Given the description of an element on the screen output the (x, y) to click on. 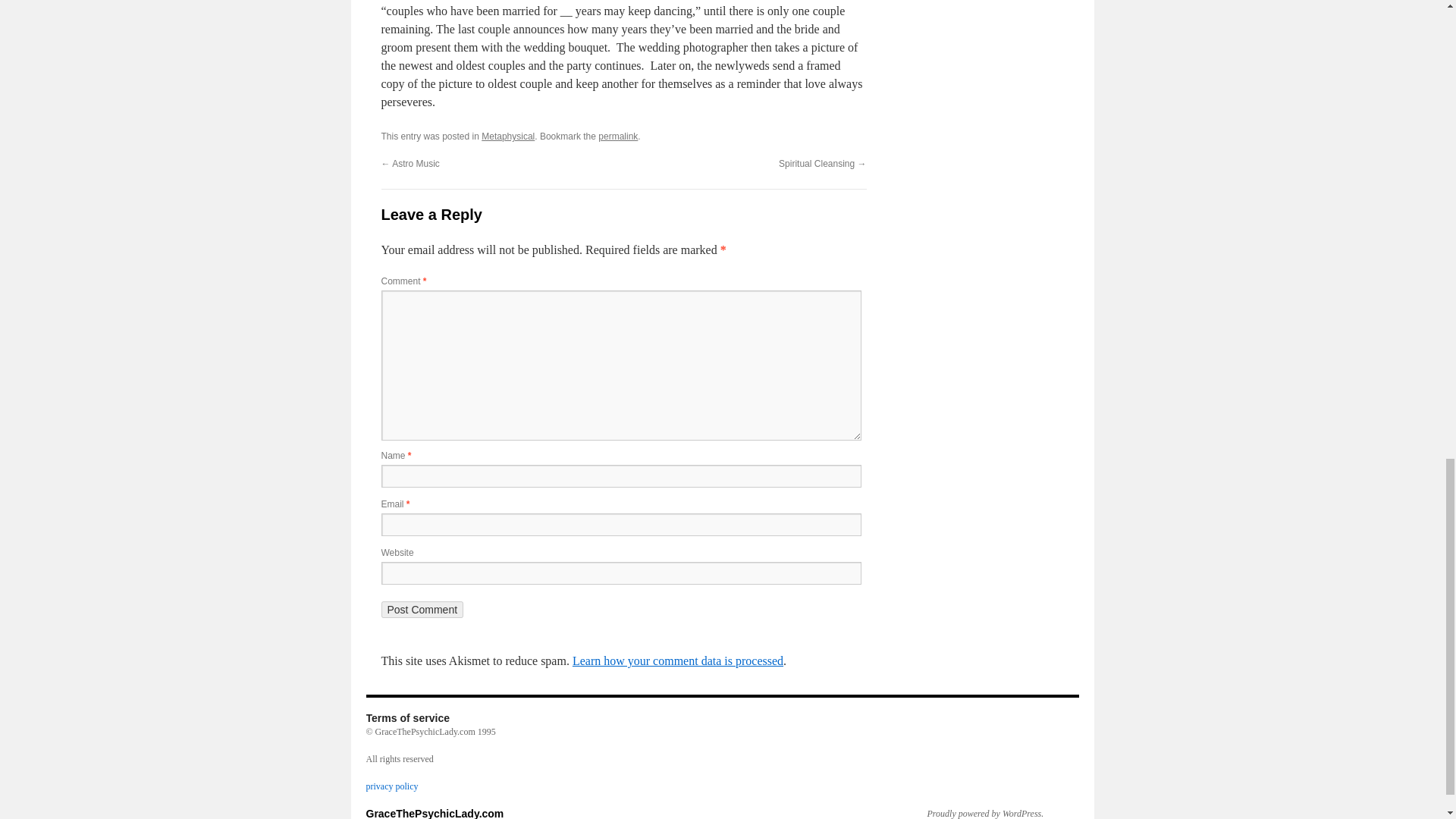
Permalink to Wedding Traditions and Superstitions (617, 136)
permalink (617, 136)
Metaphysical (507, 136)
Post Comment (421, 609)
Learn how your comment data is processed (677, 660)
privacy policy (391, 786)
Post Comment (421, 609)
